Given the description of an element on the screen output the (x, y) to click on. 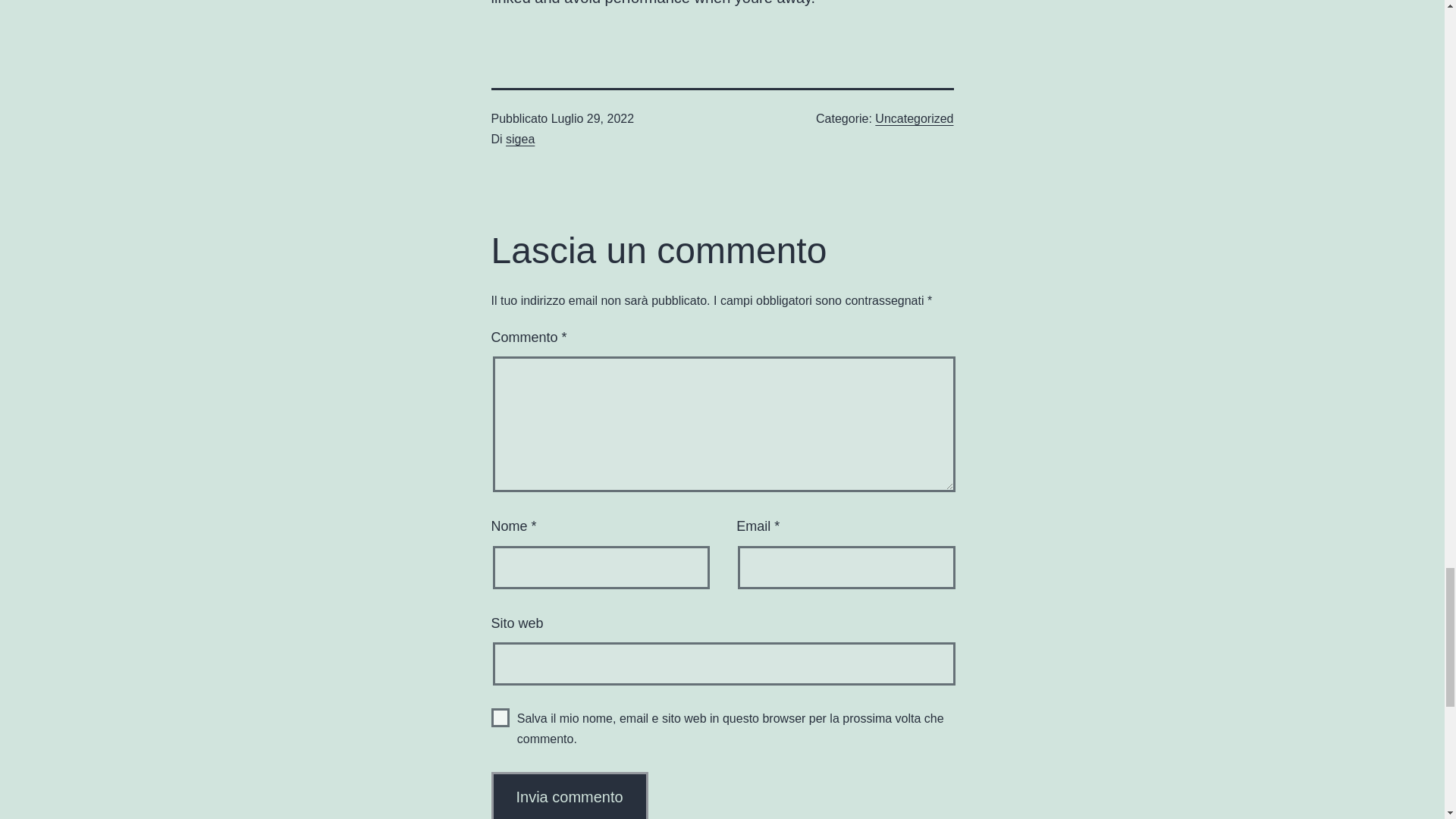
Invia commento (569, 795)
yes (500, 717)
Uncategorized (914, 118)
sigea (519, 138)
Invia commento (569, 795)
